Given the description of an element on the screen output the (x, y) to click on. 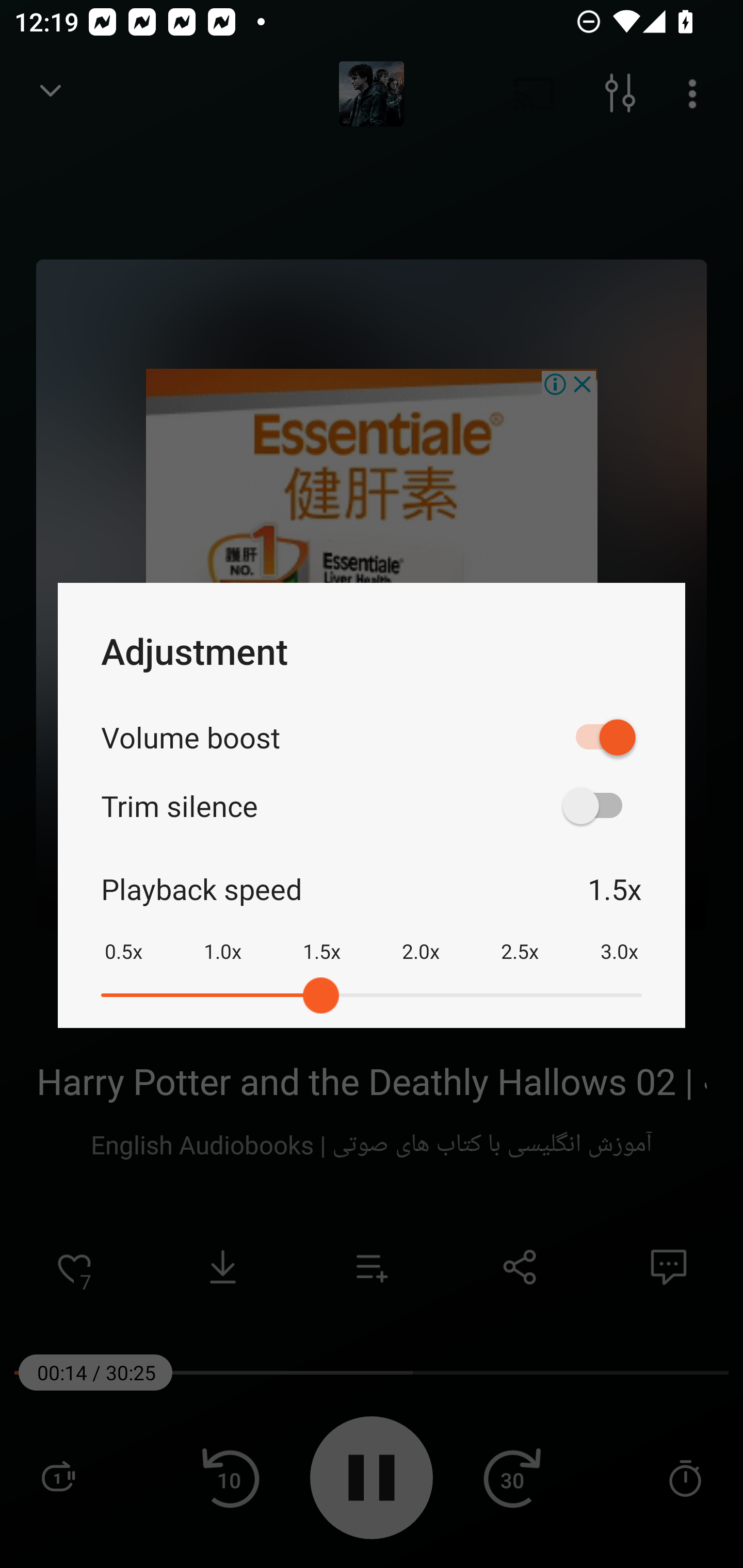
0.5x (123, 937)
1.0x (222, 937)
1.5x (321, 937)
2.0x (420, 937)
2.5x (519, 937)
3.0x (618, 937)
